Given the description of an element on the screen output the (x, y) to click on. 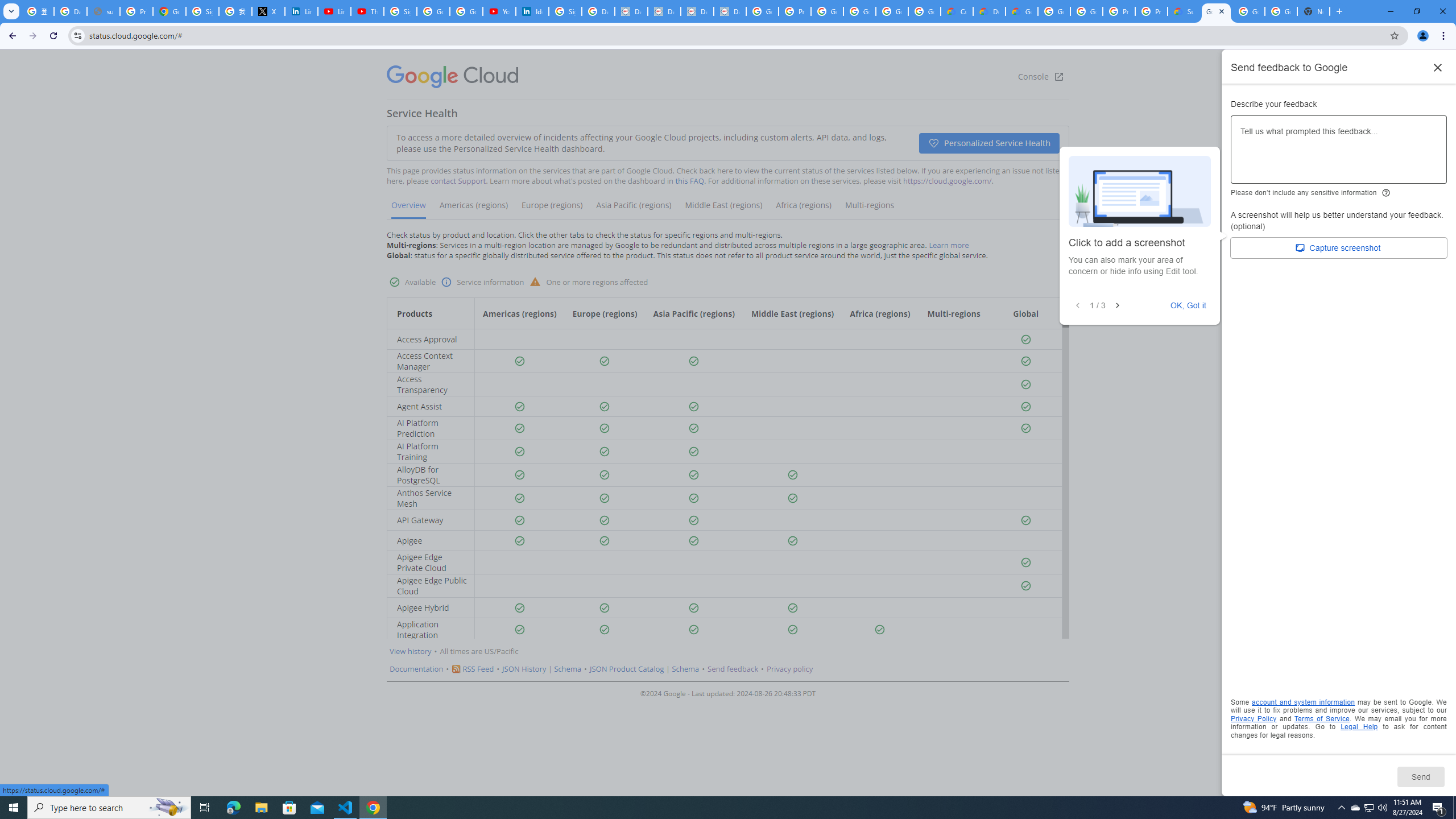
OK, Got it (1188, 305)
Sign in - Google Accounts (202, 11)
Data Privacy Framework (663, 11)
Data Privacy Framework (730, 11)
Capture screenshot (1338, 247)
Previous (1078, 305)
Privacy policy (789, 668)
